Given the description of an element on the screen output the (x, y) to click on. 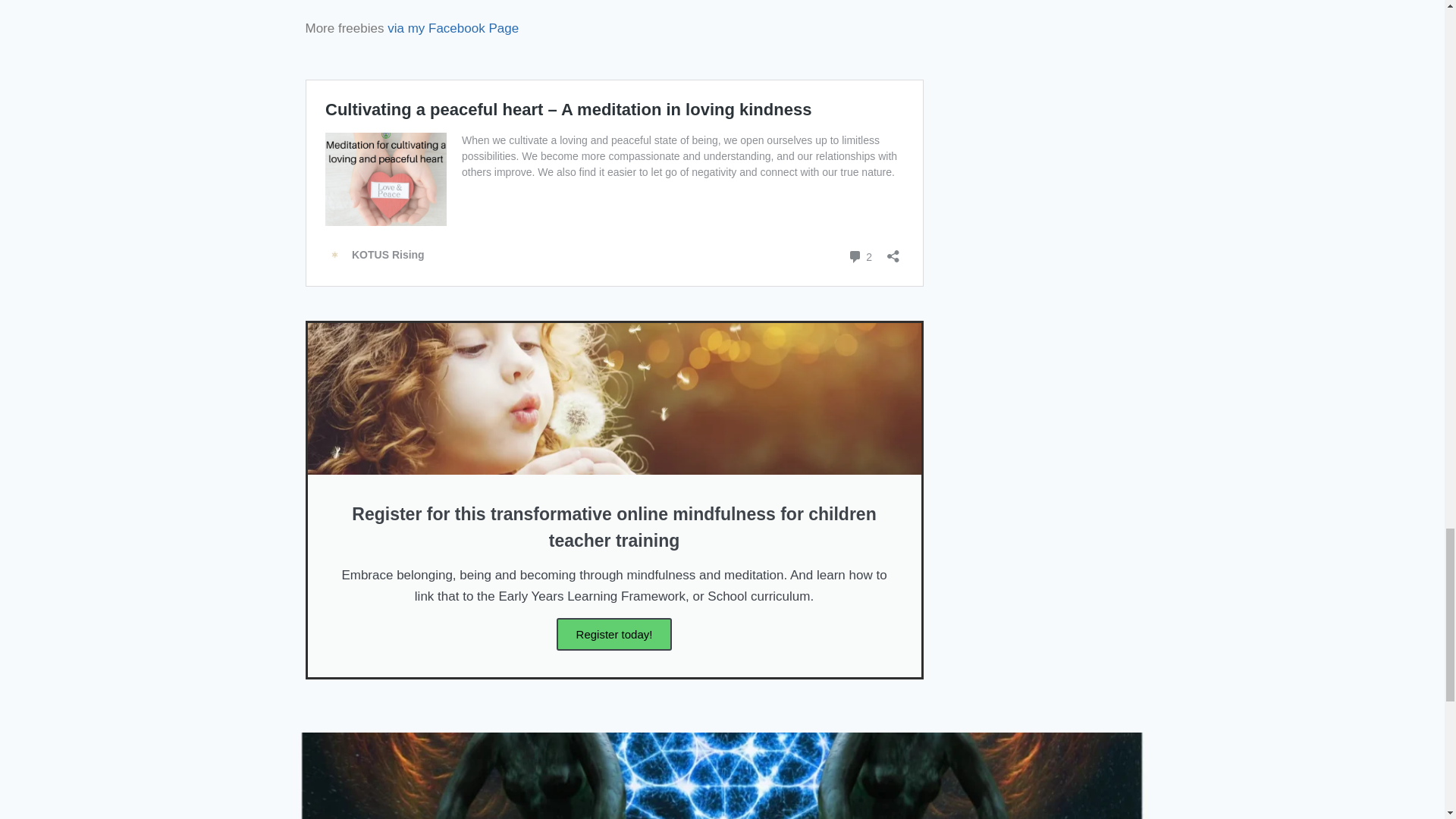
via my Facebook Page (452, 28)
Register today! (614, 634)
Here (566, 1)
